Given the description of an element on the screen output the (x, y) to click on. 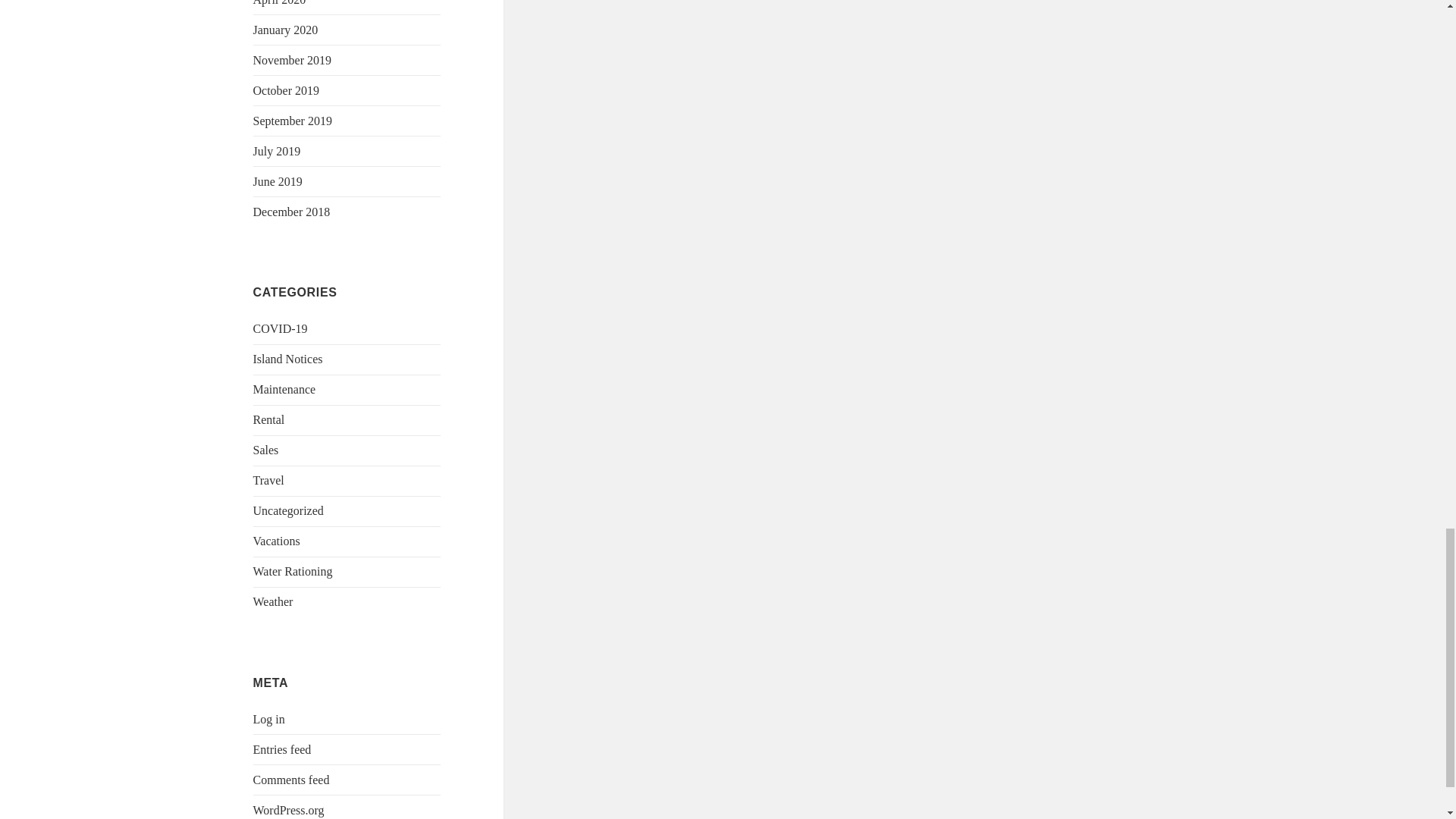
September 2019 (292, 120)
June 2019 (277, 181)
January 2020 (285, 29)
December 2018 (291, 211)
July 2019 (277, 151)
April 2020 (279, 2)
November 2019 (292, 60)
October 2019 (286, 90)
